Given the description of an element on the screen output the (x, y) to click on. 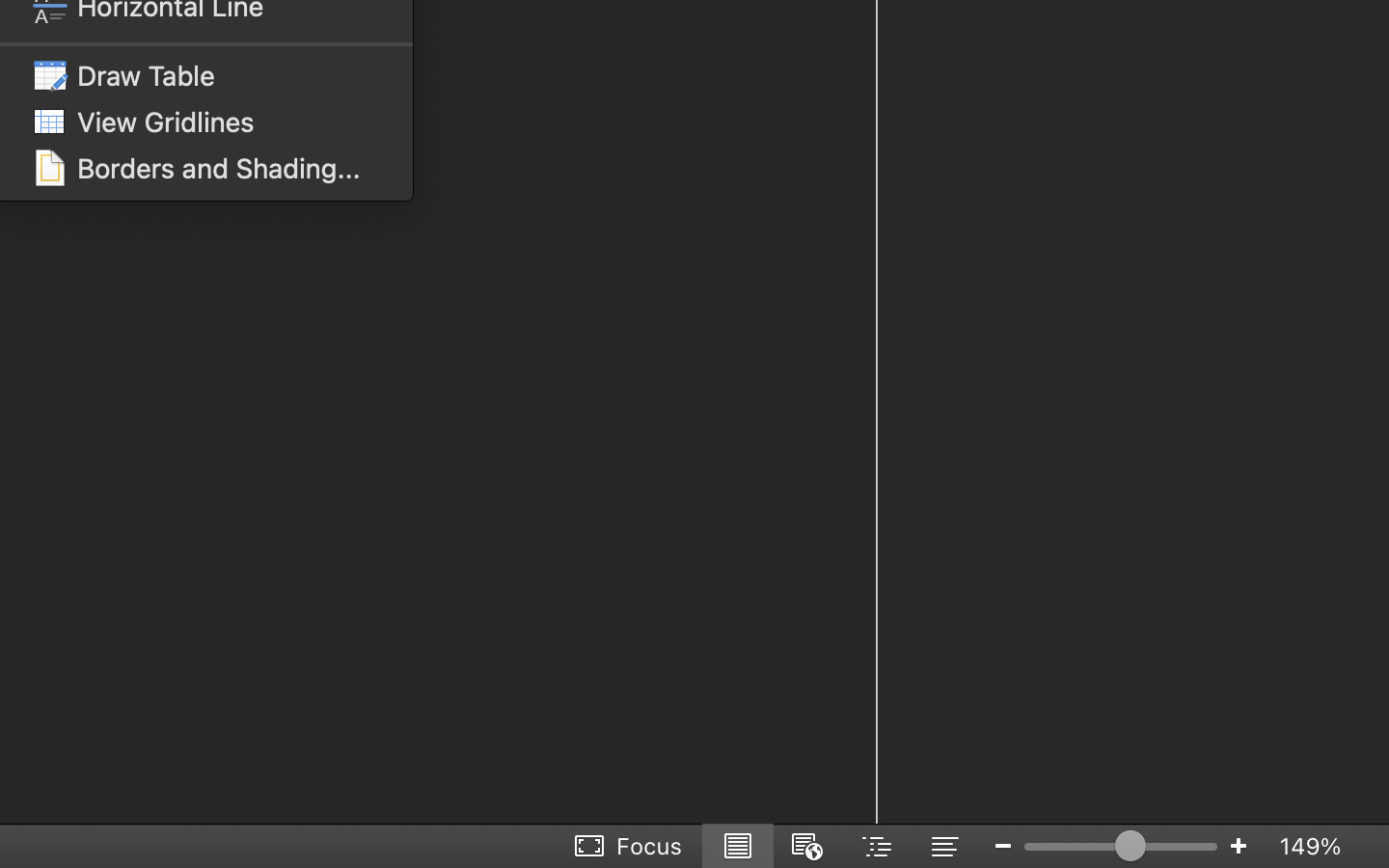
1123.0 Element type: AXSlider (1120, 845)
0 Element type: AXCheckBox (629, 845)
